Given the description of an element on the screen output the (x, y) to click on. 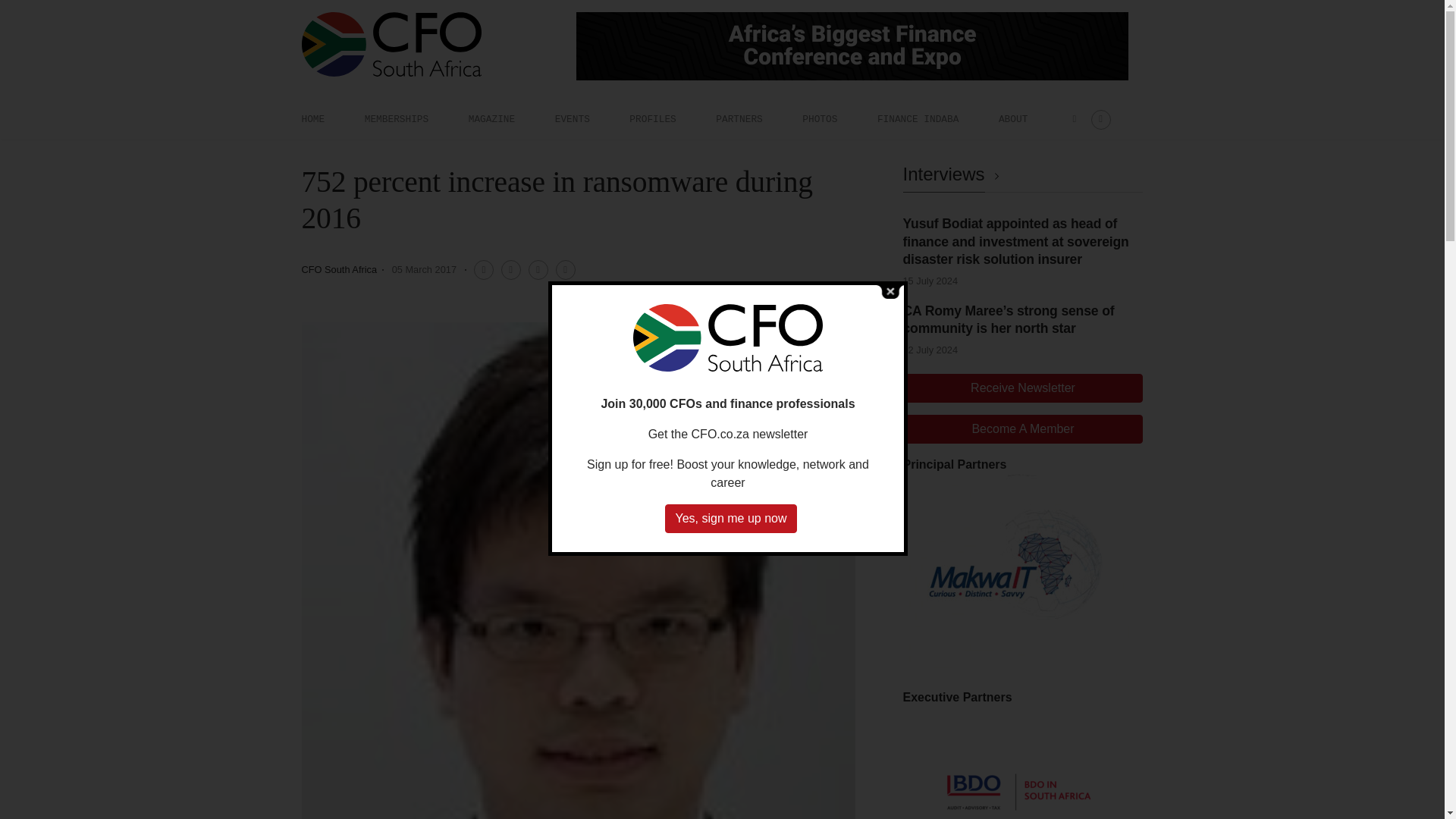
Interviews (953, 173)
HOME (312, 119)
Receive Newsletter (1022, 387)
PROFILES (651, 119)
Become A Member (1022, 428)
ABOUT (1012, 119)
FINANCE INDABA (918, 119)
MAGAZINE (491, 119)
PARTNERS (738, 119)
PHOTOS (819, 119)
EVENTS (571, 119)
CFO South Africa (339, 269)
MEMBERSHIPS (396, 119)
Close (890, 290)
